Given the description of an element on the screen output the (x, y) to click on. 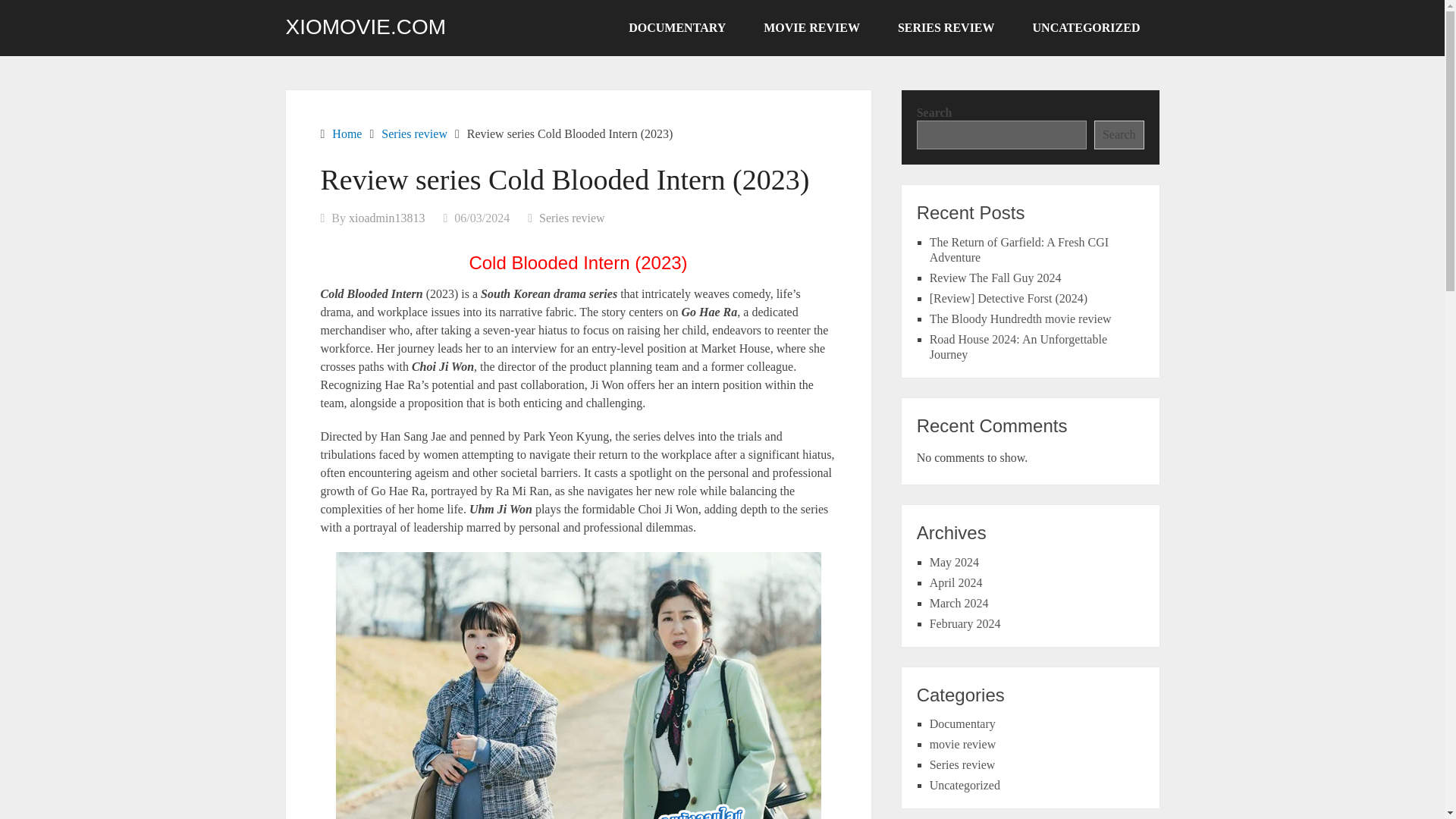
Search (1119, 134)
MOVIE REVIEW (811, 28)
SERIES REVIEW (946, 28)
DOCUMENTARY (677, 28)
March 2024 (959, 603)
February 2024 (965, 623)
XIOMOVIE.COM (365, 26)
May 2024 (954, 562)
xioadmin13813 (387, 217)
Series review (413, 133)
